Given the description of an element on the screen output the (x, y) to click on. 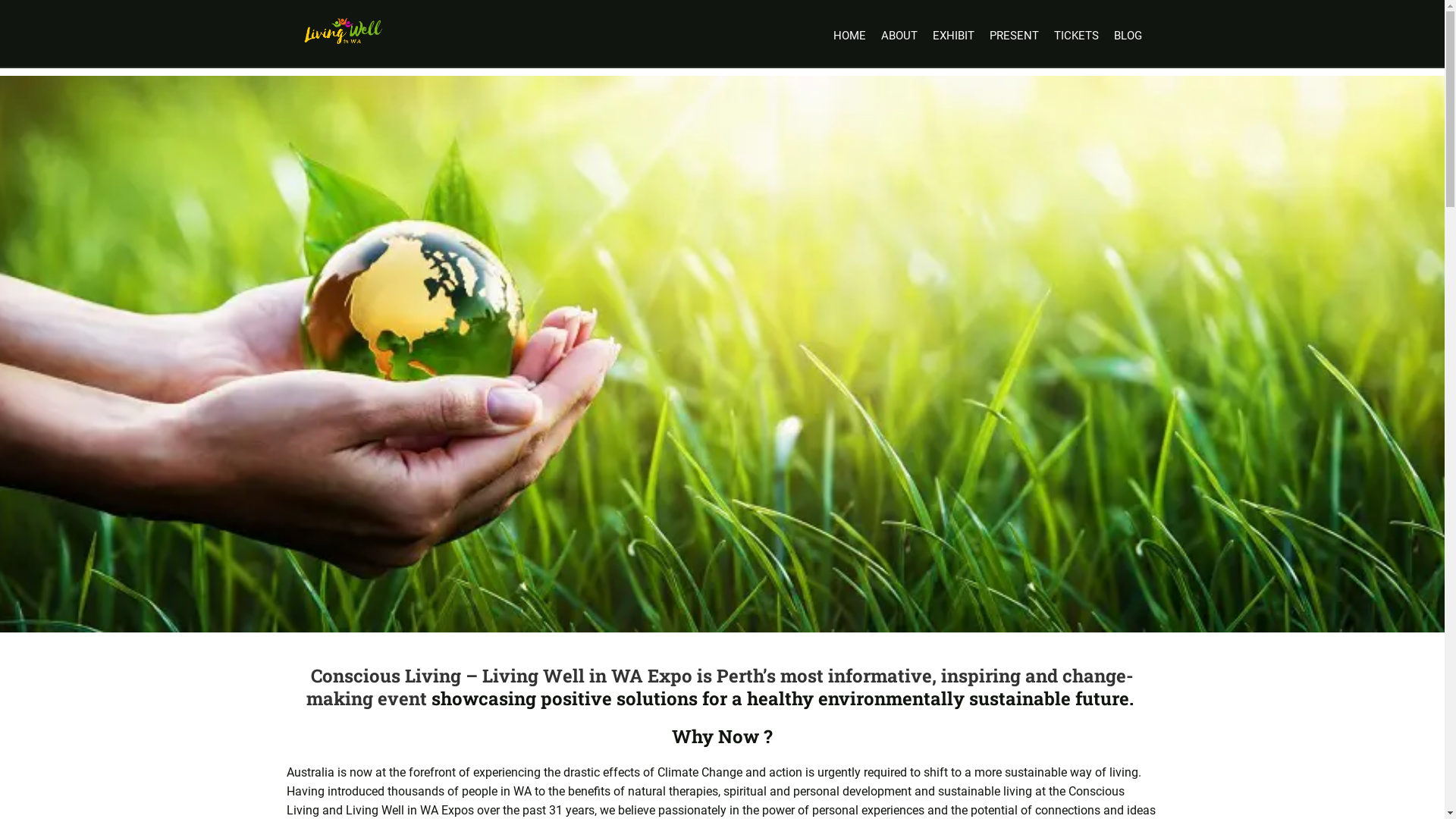
EXHIBIT Element type: text (953, 35)
PRESENT Element type: text (1013, 35)
TICKETS Element type: text (1076, 35)
ABOUT Element type: text (899, 35)
HOME Element type: text (848, 35)
BLOG Element type: text (1126, 35)
